Given the description of an element on the screen output the (x, y) to click on. 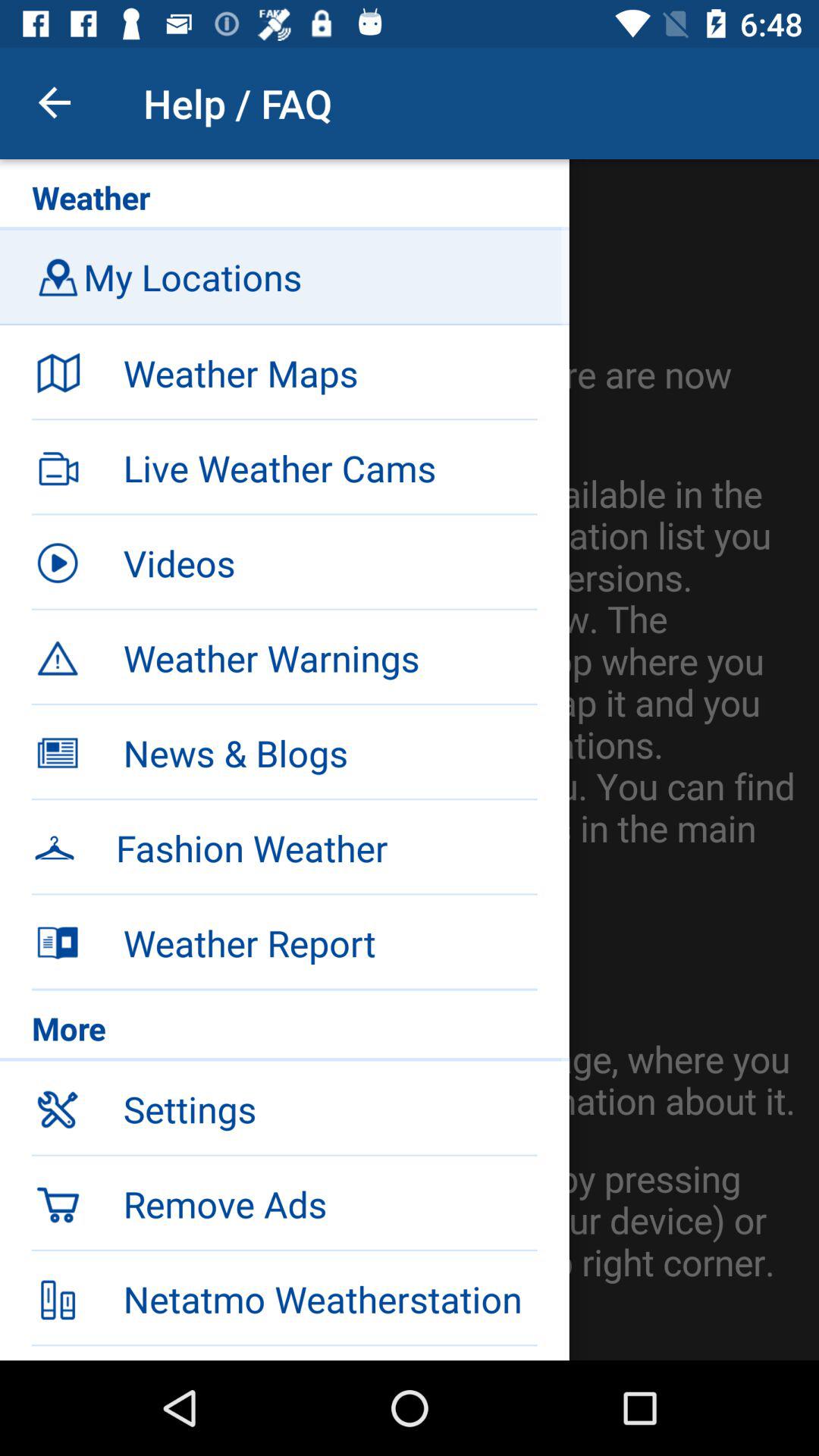
swipe until more (284, 1031)
